Given the description of an element on the screen output the (x, y) to click on. 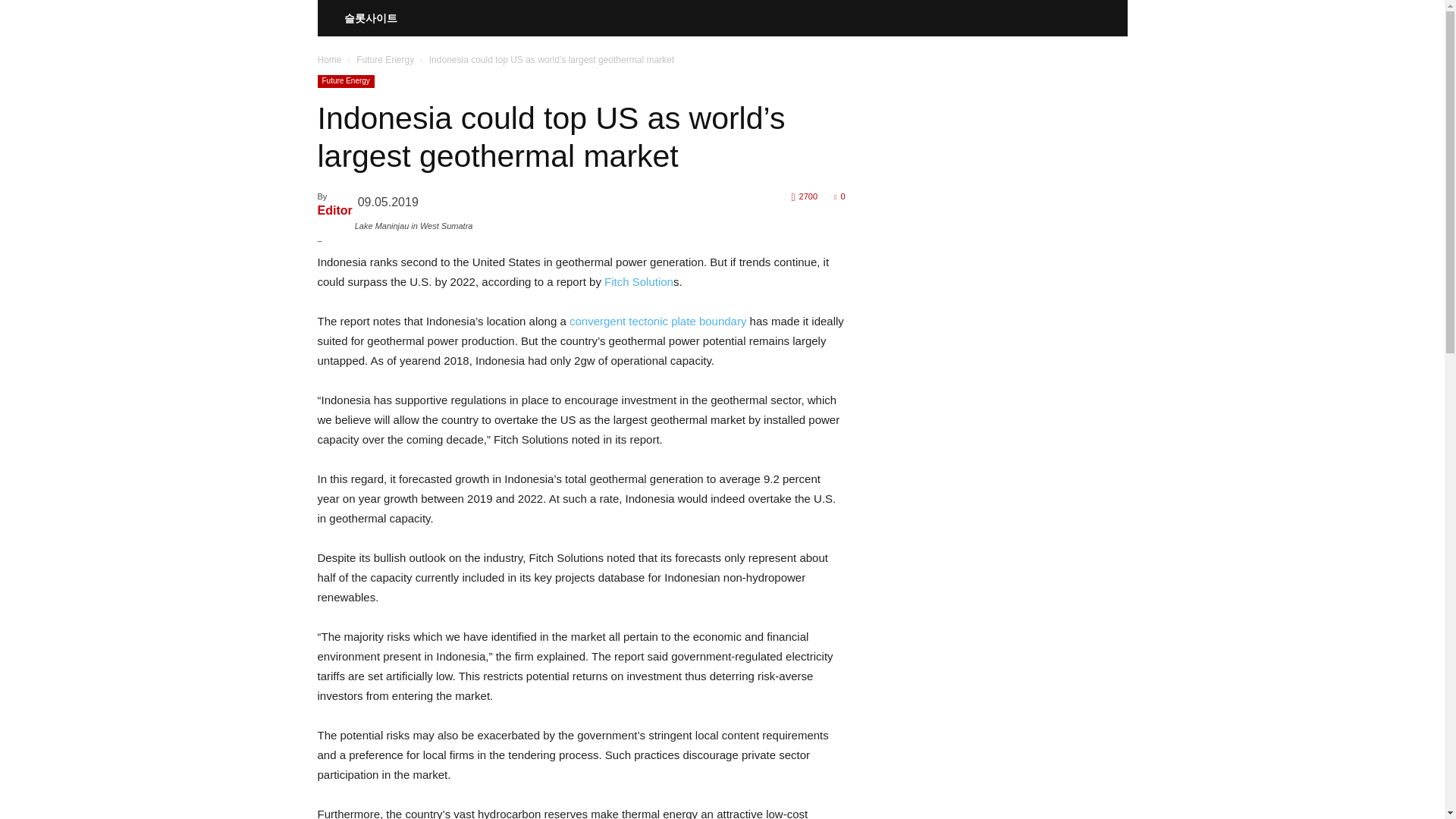
View all posts in Future Energy (384, 59)
0 (839, 195)
Future Energy (384, 59)
Editor (334, 210)
Future Energy (345, 81)
convergent tectonic plate boundary (657, 320)
Fitch Solution (638, 281)
Home (328, 59)
